Given the description of an element on the screen output the (x, y) to click on. 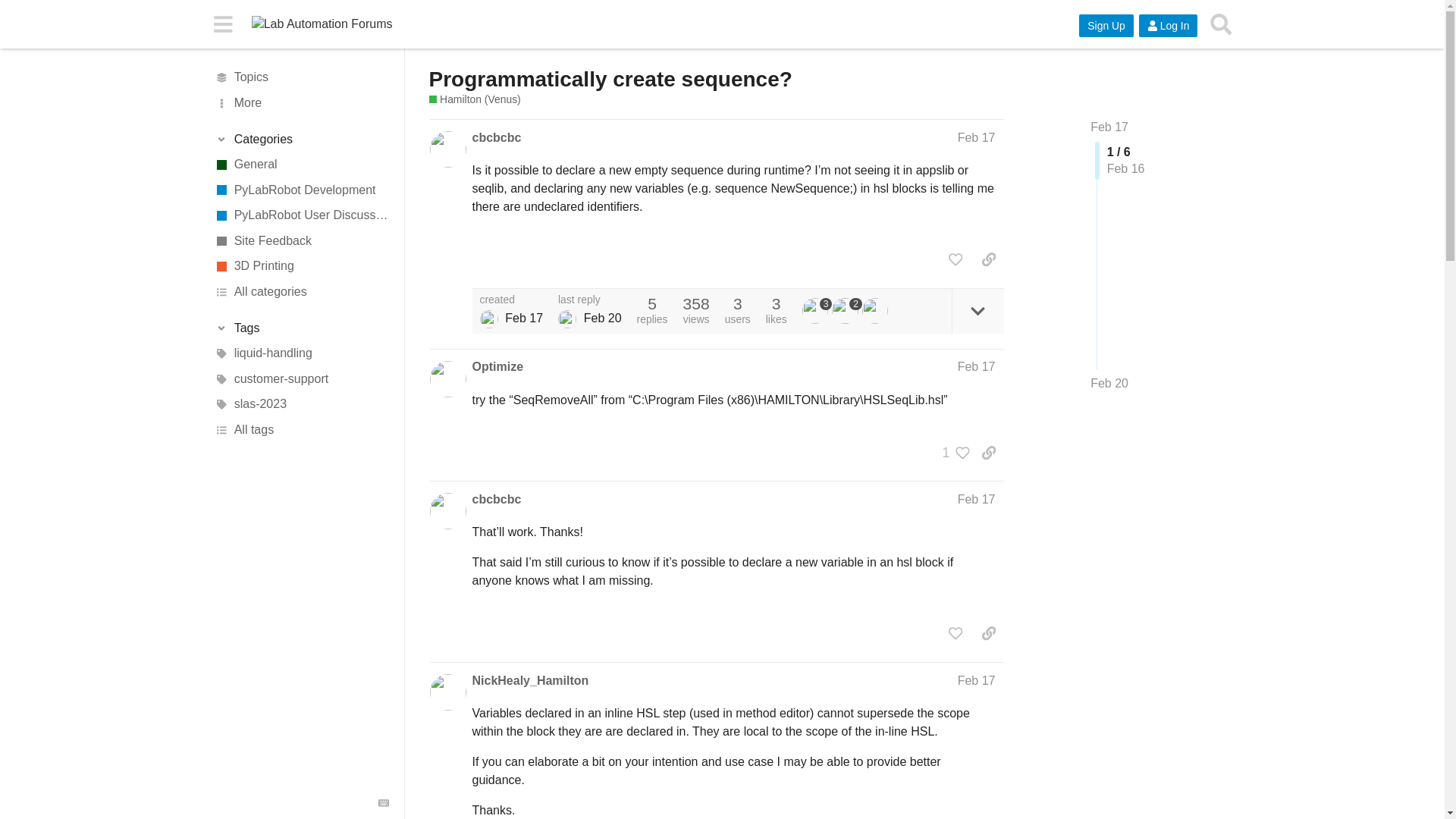
slas-2023 (301, 404)
All categories (301, 291)
Topics (301, 77)
PyLabRobot Development (301, 190)
Log In (1168, 25)
General (301, 164)
Feb 17 (1109, 126)
customer-support (301, 379)
Site Feedback (301, 240)
